Given the description of an element on the screen output the (x, y) to click on. 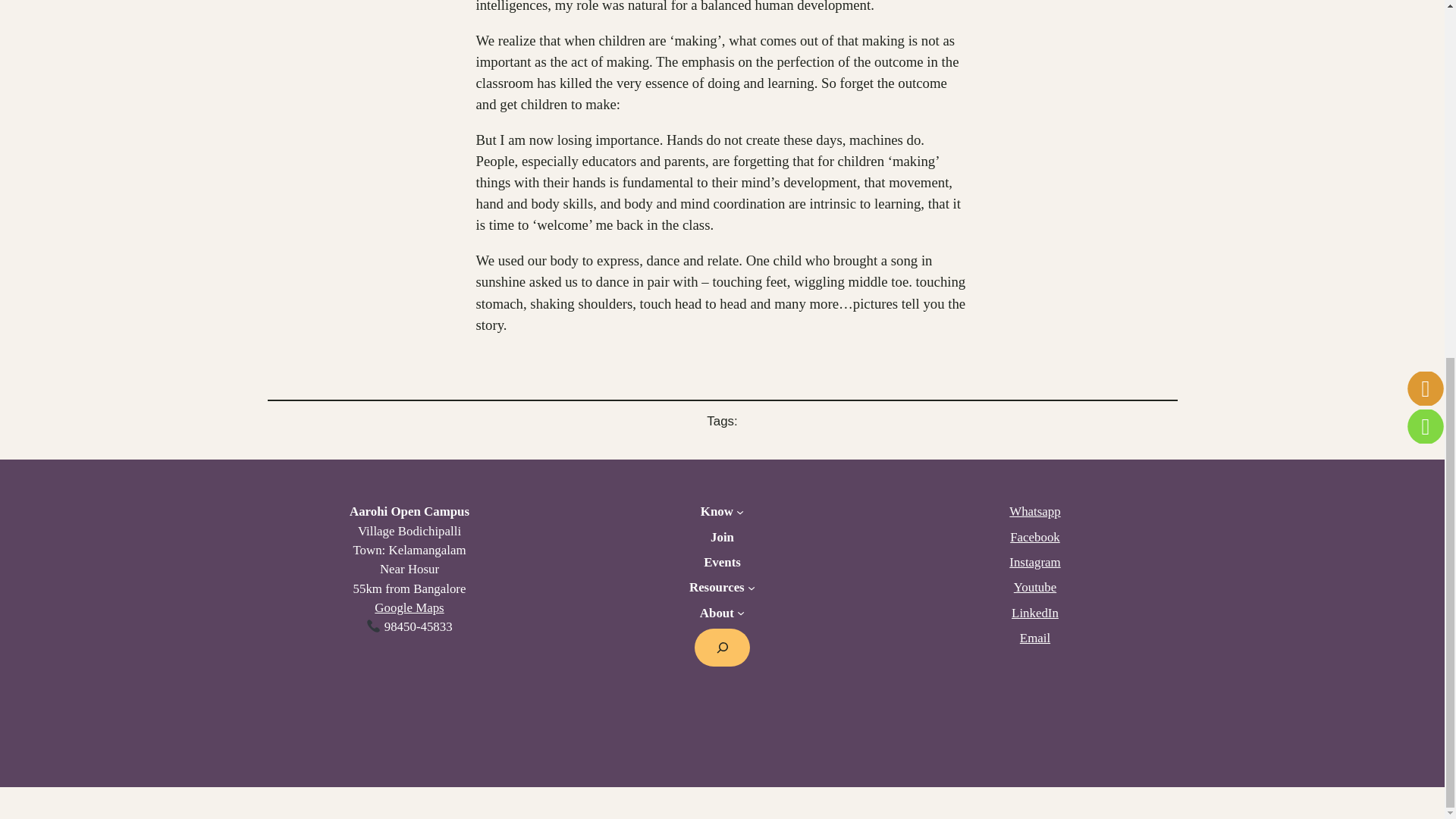
Join (721, 537)
Resources (716, 587)
Events (722, 561)
Know (716, 511)
Google Maps (409, 607)
